Given the description of an element on the screen output the (x, y) to click on. 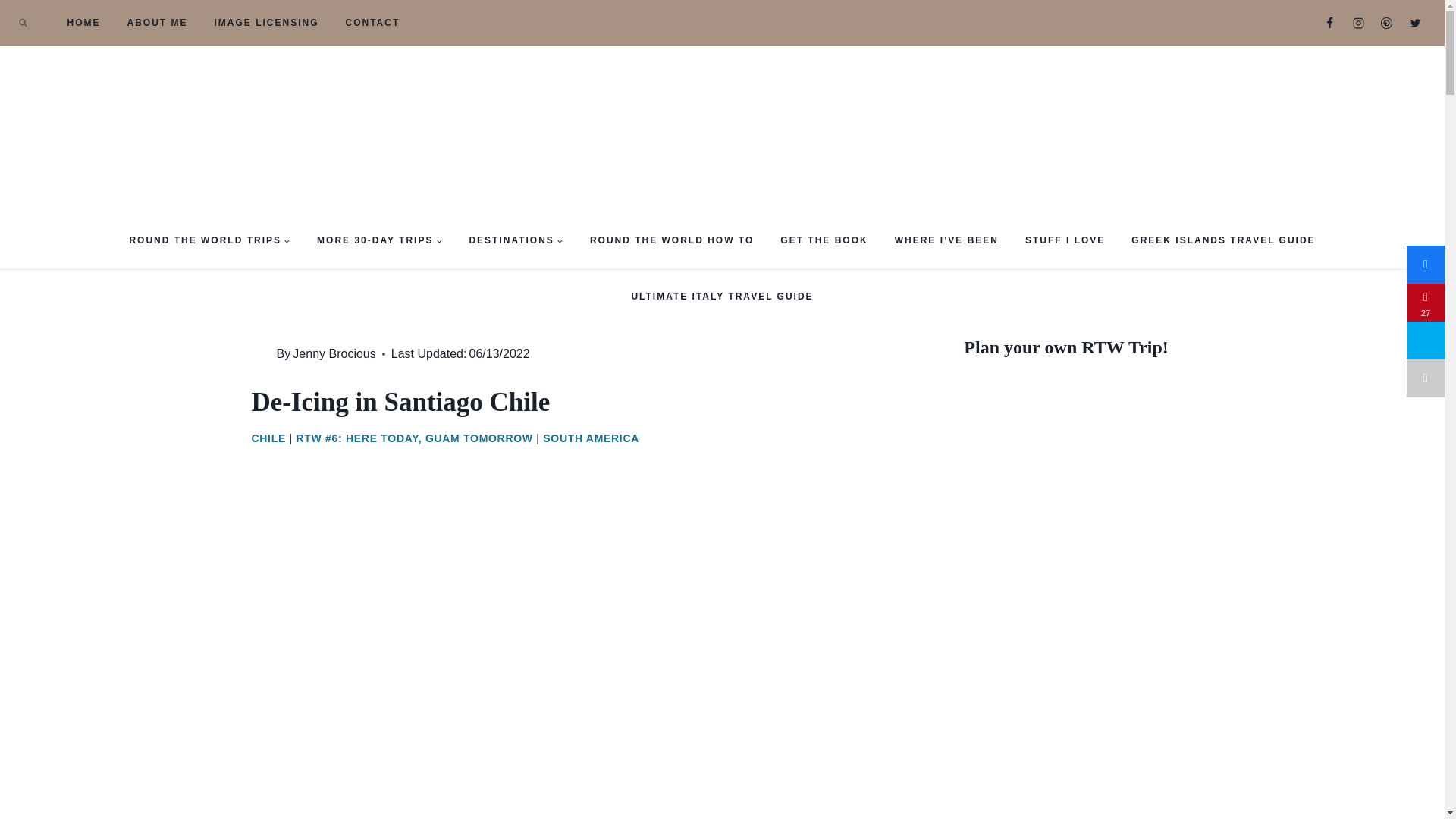
ROUND THE WORLD TRIPS (210, 240)
IMAGE LICENSING (265, 22)
HOME (83, 22)
DESTINATIONS (515, 240)
ABOUT ME (156, 22)
MORE 30-DAY TRIPS (379, 240)
CONTACT (372, 22)
